Given the description of an element on the screen output the (x, y) to click on. 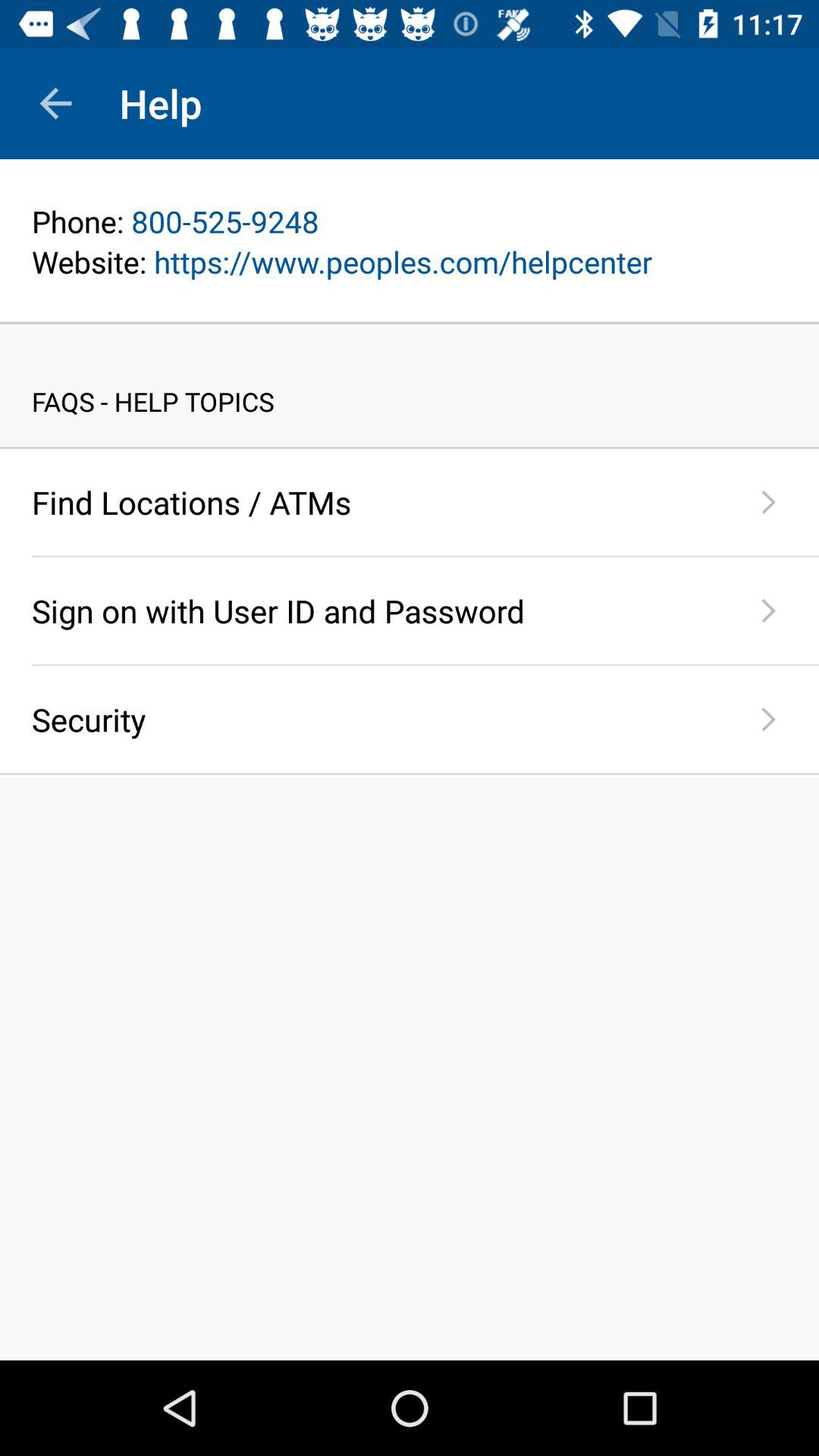
turn on faqs - help topics item (409, 385)
